Given the description of an element on the screen output the (x, y) to click on. 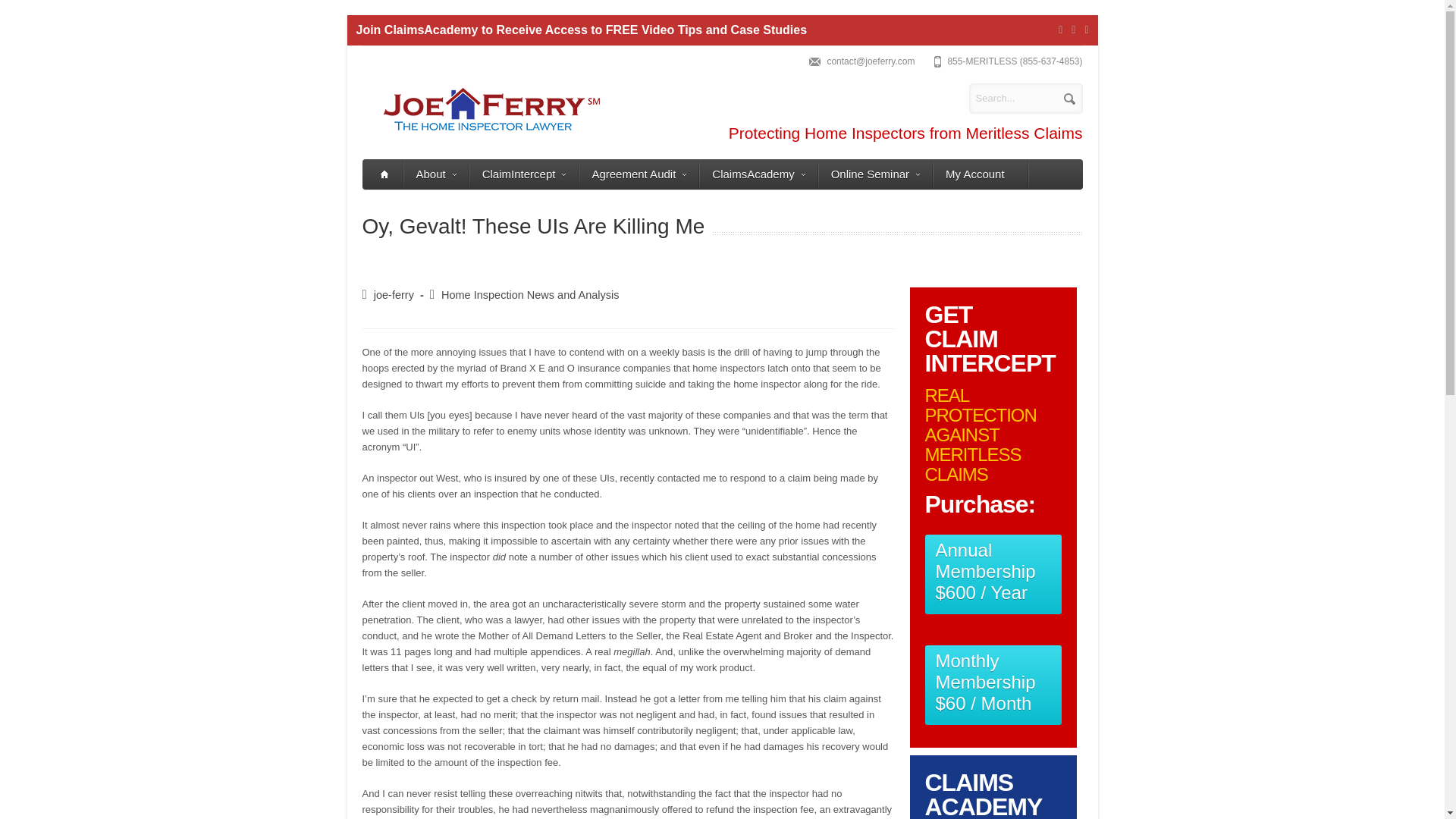
Search... (1026, 98)
Agreement Audit (638, 173)
My Account (980, 173)
About (435, 173)
Posts by joe-ferry (393, 295)
Online Seminar (874, 173)
Home (383, 173)
ClaimIntercept (524, 173)
ClaimsAcademy (758, 173)
